Given the description of an element on the screen output the (x, y) to click on. 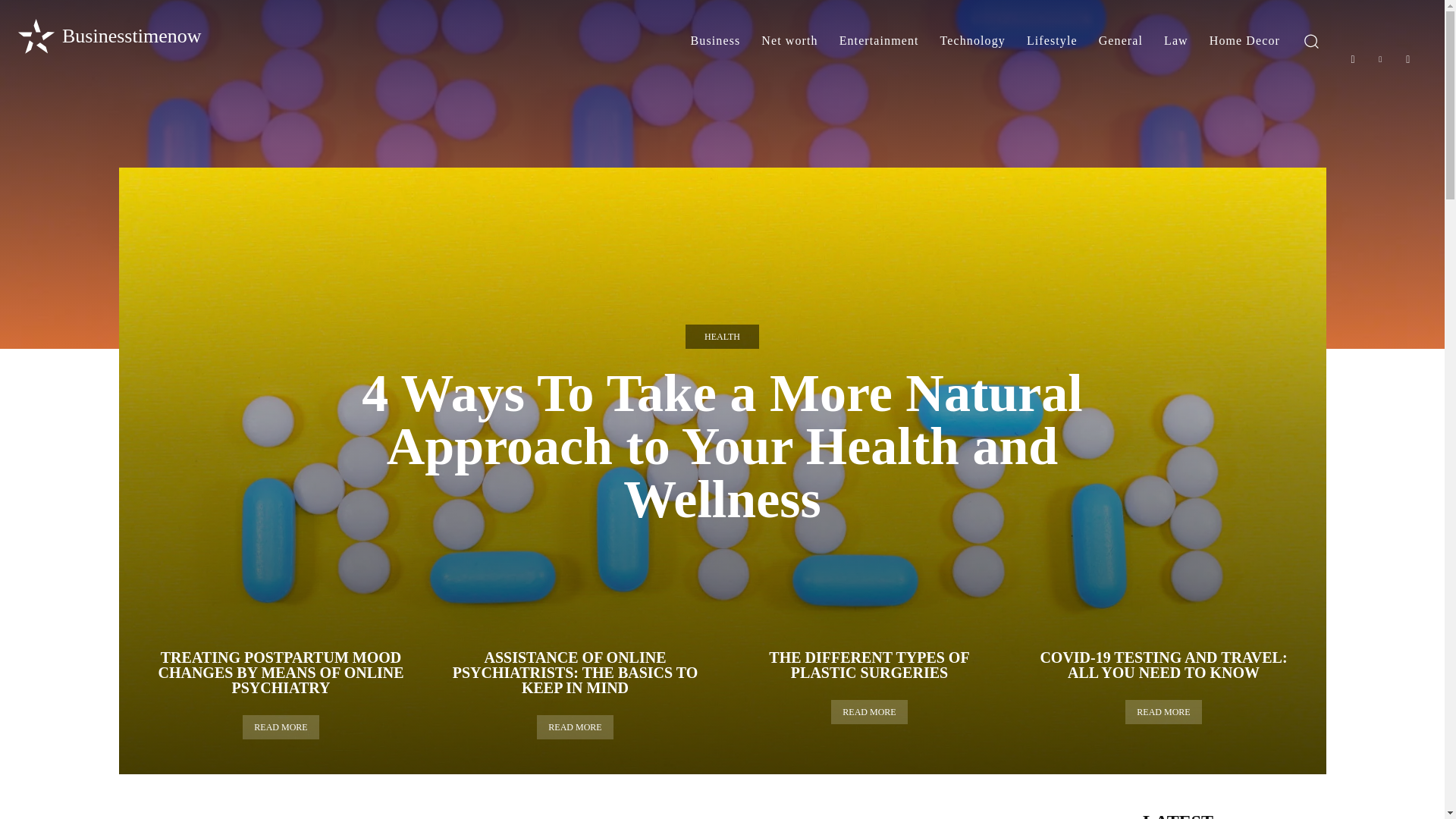
HEALTH (721, 336)
Businesstimenow (107, 36)
Law (1175, 40)
Linkedin (1380, 58)
Home Decor (1244, 40)
Businesstimenow (107, 36)
Lifestyle (1051, 40)
Net worth (789, 40)
Technology (973, 40)
Facebook (1353, 58)
General (1120, 40)
Business (715, 40)
RSS (1408, 58)
Entertainment (879, 40)
